Given the description of an element on the screen output the (x, y) to click on. 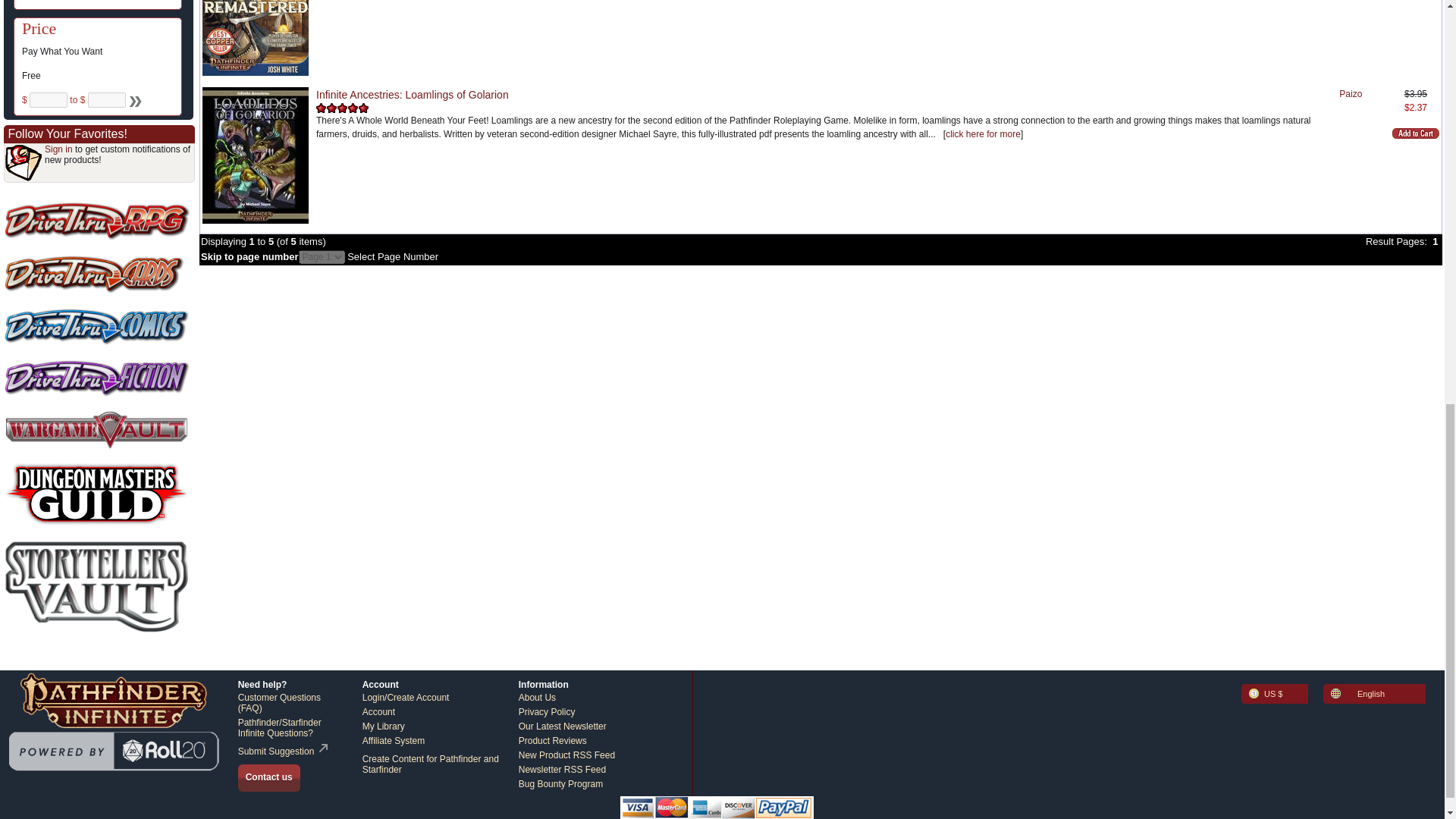
 Search  (133, 100)
DriveThruFiction (96, 378)
Storytellers Vault (96, 586)
DriveThruComics (96, 326)
DriveThruCards (96, 274)
DriveThruRPG (96, 220)
Dungeon Masters Guild (96, 493)
WarGameVault (96, 429)
